Given the description of an element on the screen output the (x, y) to click on. 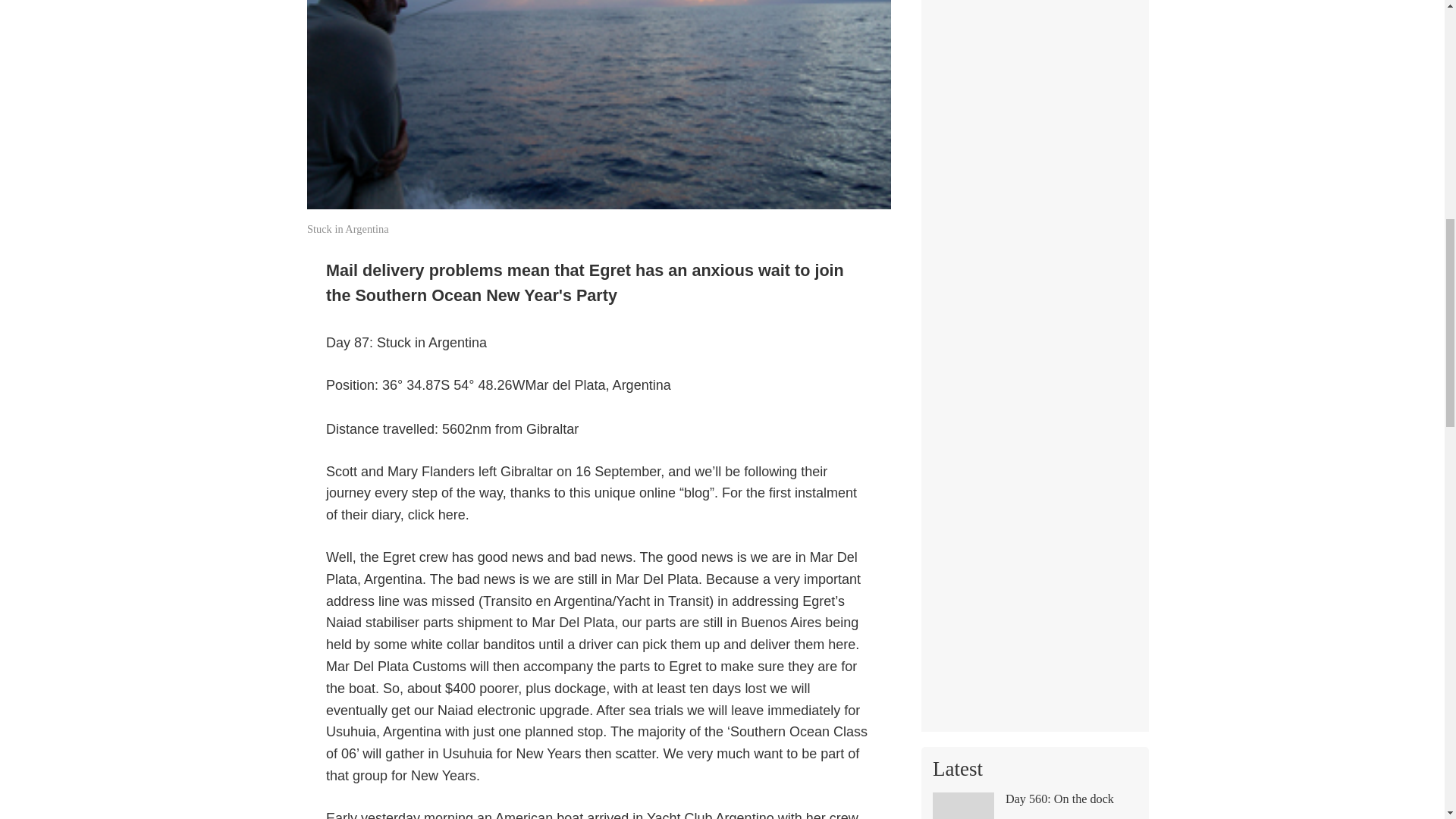
Day 560: On the dock (1035, 805)
